Given the description of an element on the screen output the (x, y) to click on. 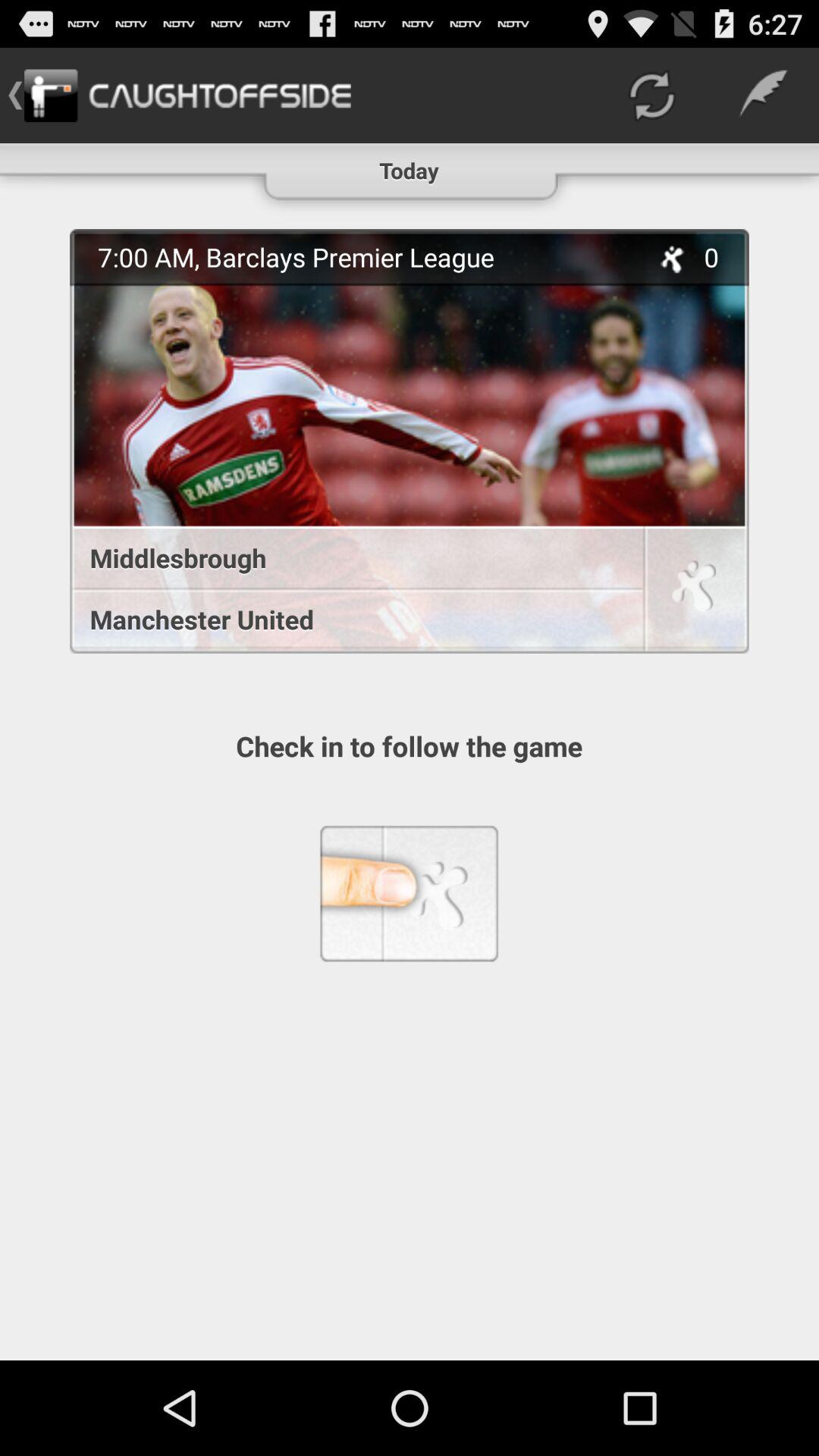
turn on the today icon (409, 164)
